Given the description of an element on the screen output the (x, y) to click on. 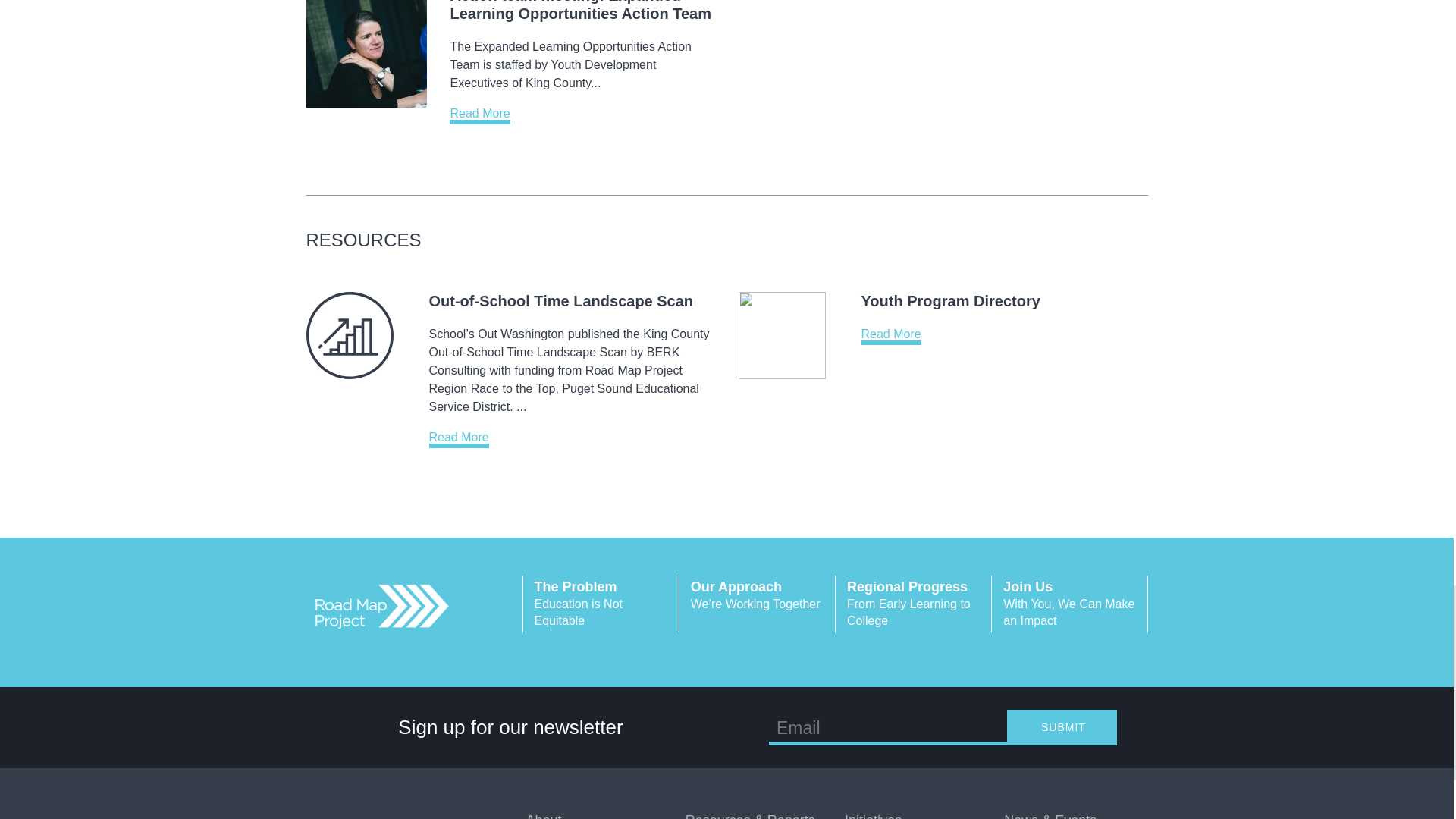
Read More (459, 438)
Youth Program Directory (951, 300)
Read More (891, 335)
Read More (479, 115)
Out-of-School Time Landscape Scan (1069, 603)
SUBMIT (600, 603)
